Given the description of an element on the screen output the (x, y) to click on. 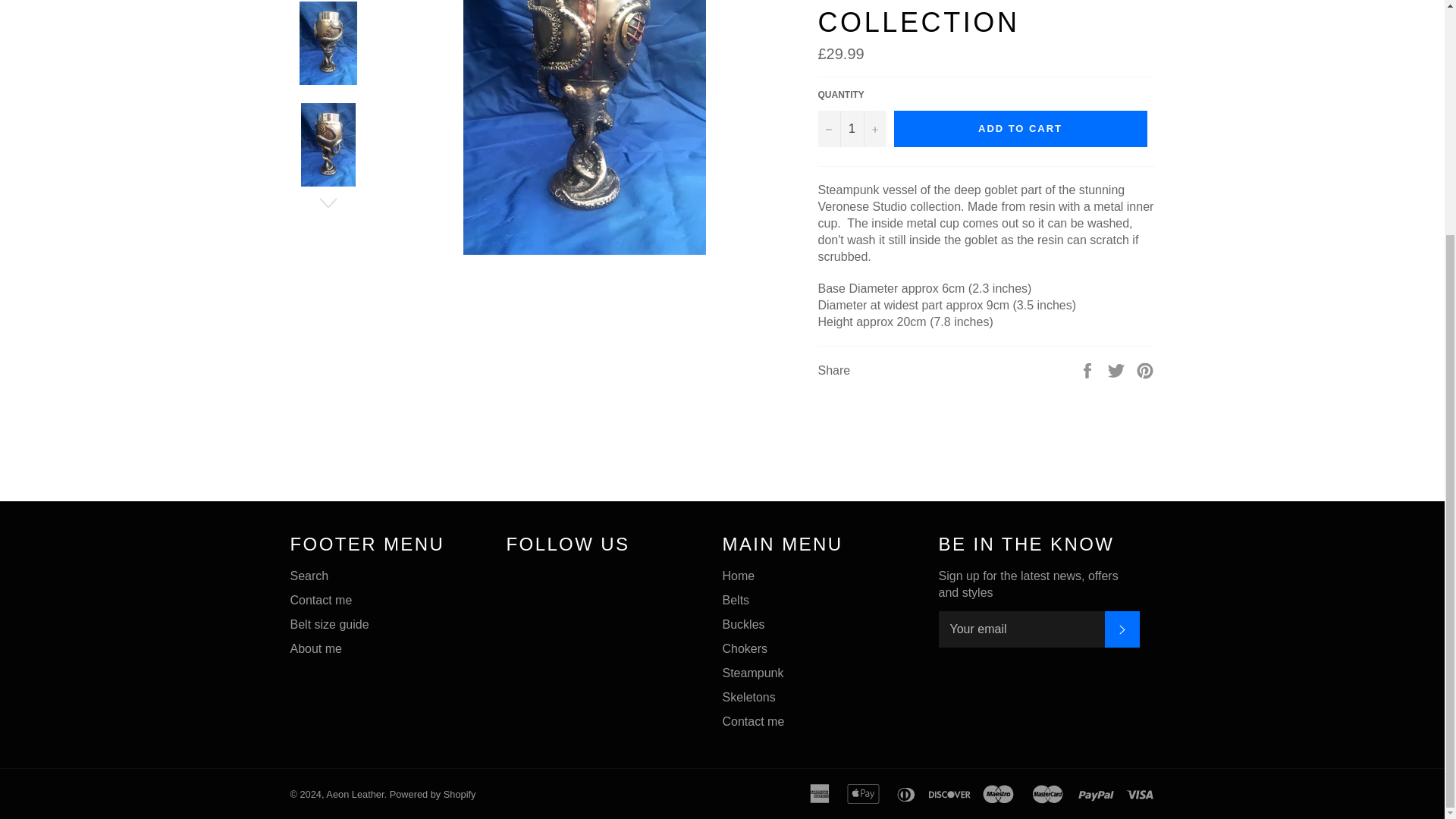
Tweet on Twitter (1117, 369)
Share on Facebook (1088, 369)
Pin on Pinterest (1144, 369)
ADD TO CART (1020, 128)
1 (850, 128)
Share on Facebook (1088, 369)
Tweet on Twitter (1117, 369)
